Given the description of an element on the screen output the (x, y) to click on. 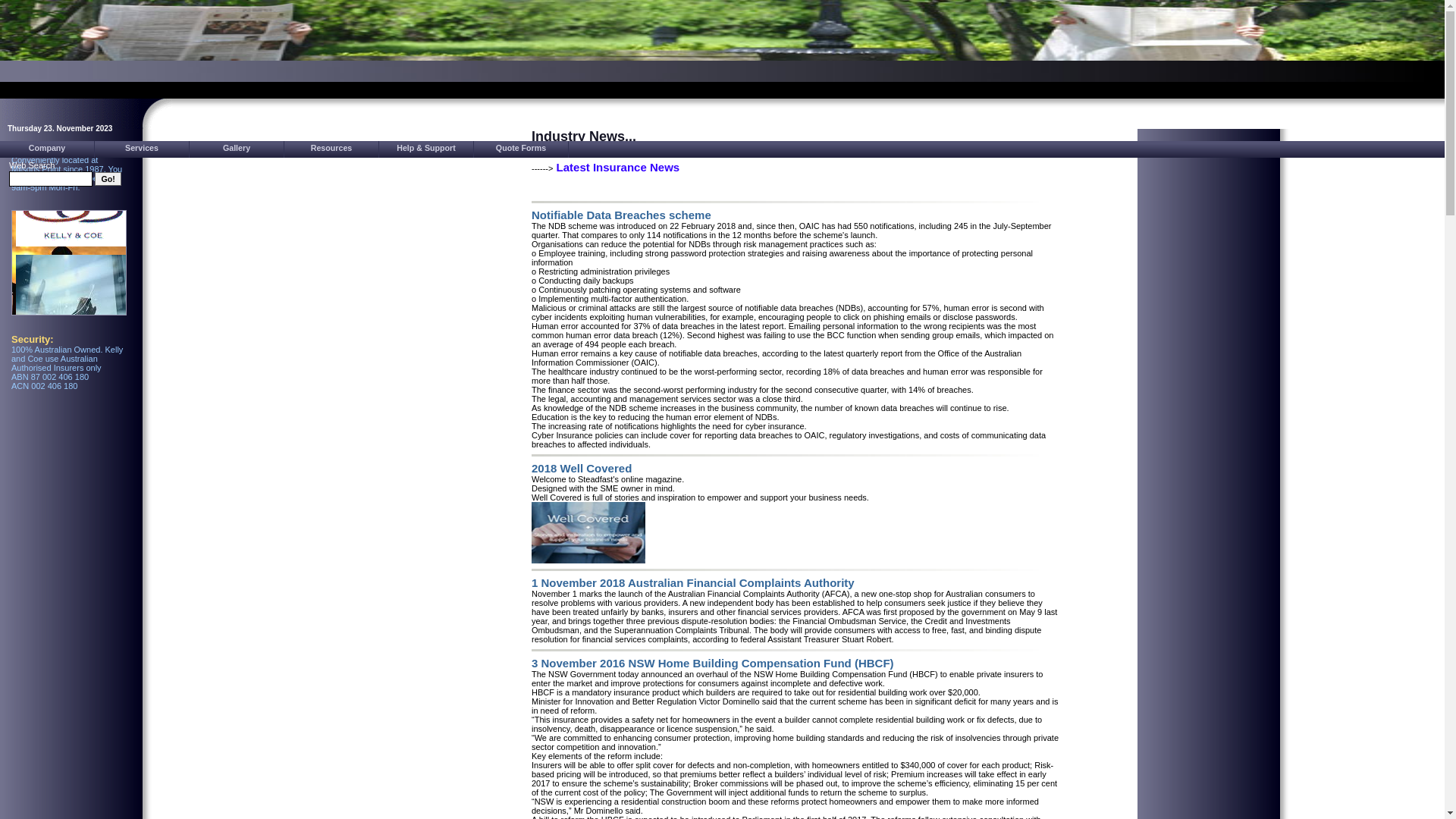
Services Element type: text (141, 149)
Quote Forms Element type: text (520, 149)
ABN 87 002 406 180
ACN 002 406 180 Element type: text (49, 381)
Web Search
 
Thursday 23. November 2023 Element type: text (68, 416)
Help & Support Element type: text (426, 149)
Resources Element type: text (331, 149)
Company Element type: text (47, 149)
Gallery Element type: text (236, 149)
Go! Element type: text (107, 178)
Latest Insurance News Element type: text (618, 166)
